Given the description of an element on the screen output the (x, y) to click on. 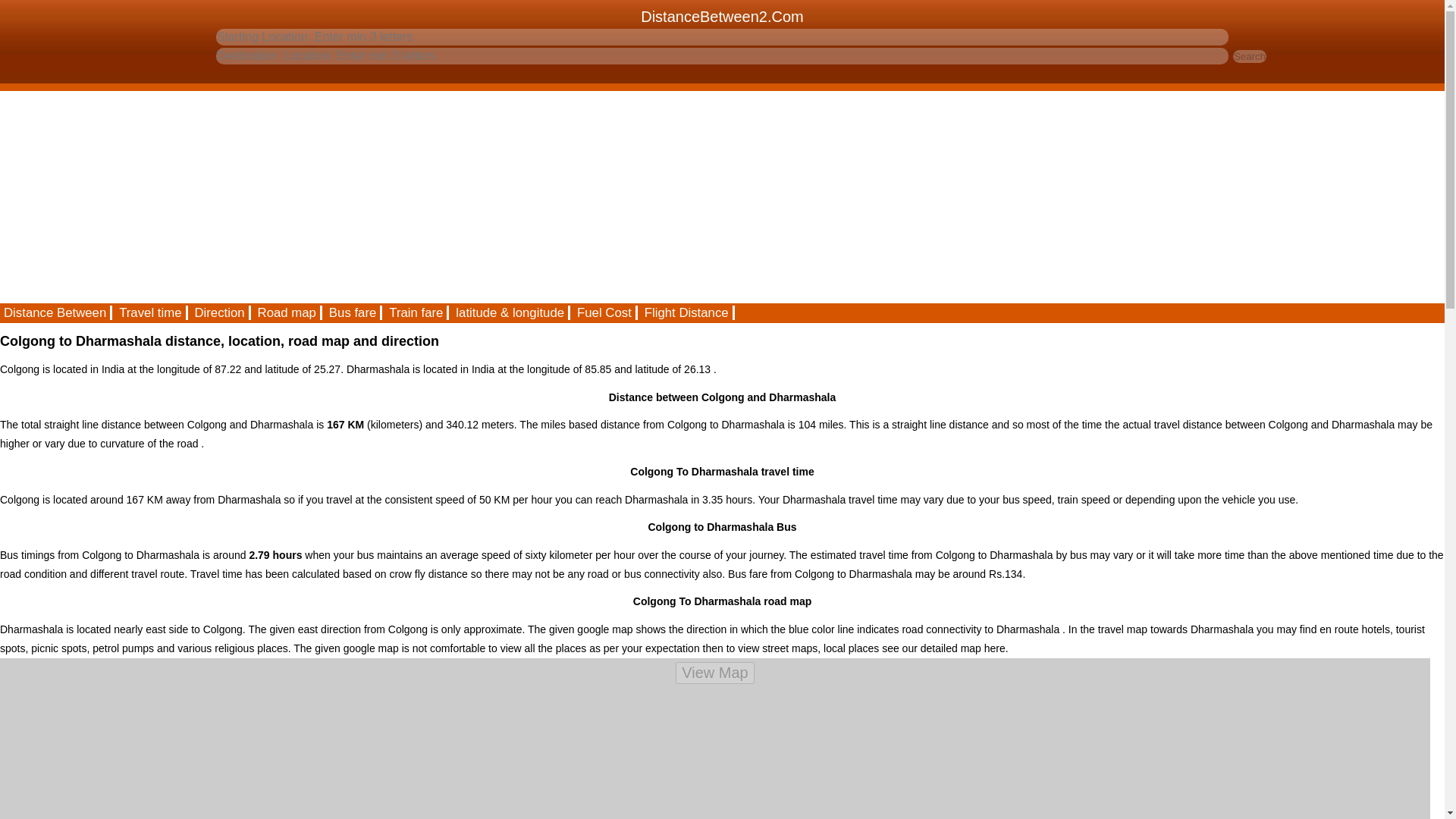
Bus fare (353, 312)
Search (1249, 56)
Train fare (416, 312)
Fuel Cost (605, 312)
View Map (714, 672)
driving direction (220, 312)
Search (1249, 56)
Road map (287, 312)
Direction (220, 312)
Flight Distance (687, 312)
